Given the description of an element on the screen output the (x, y) to click on. 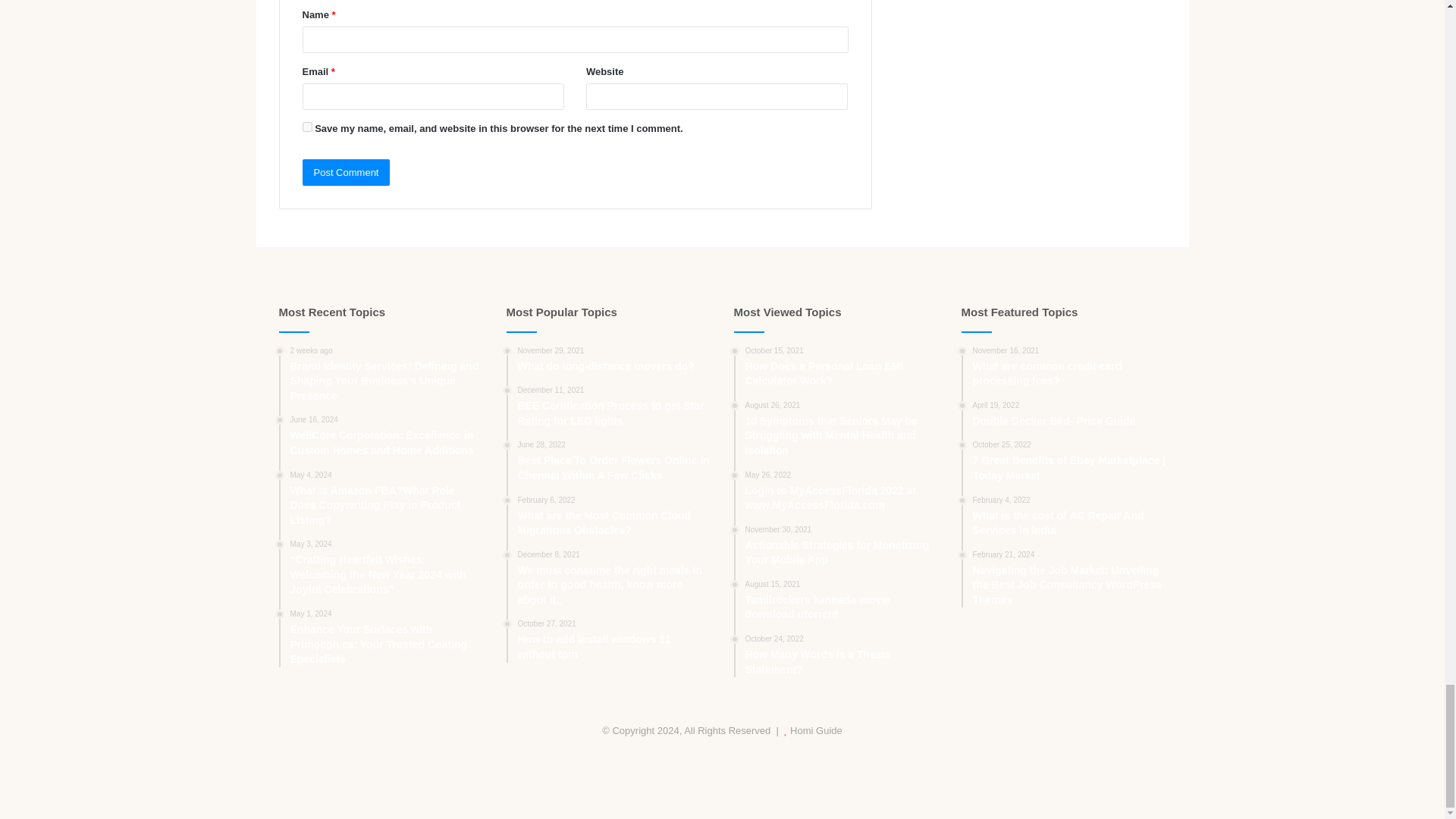
yes (306, 126)
Post Comment (345, 171)
